Given the description of an element on the screen output the (x, y) to click on. 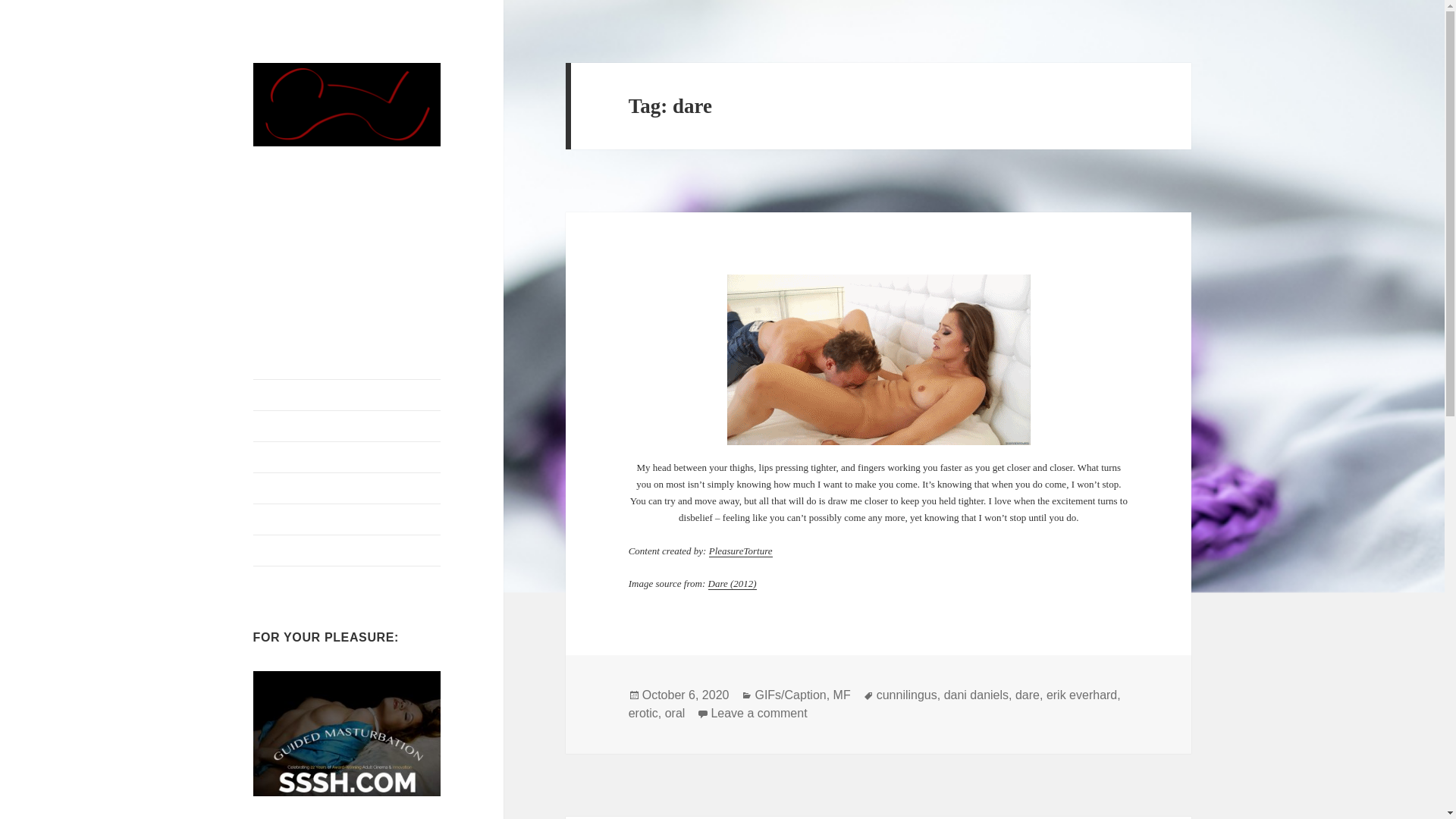
MF (758, 713)
cunnilingus (841, 694)
Home (906, 694)
About PleasureTorture (347, 395)
October 6, 2020 (347, 426)
PleasureTorture (685, 694)
Ask Me Anything (741, 550)
dare (347, 488)
Categories (1026, 694)
